Given the description of an element on the screen output the (x, y) to click on. 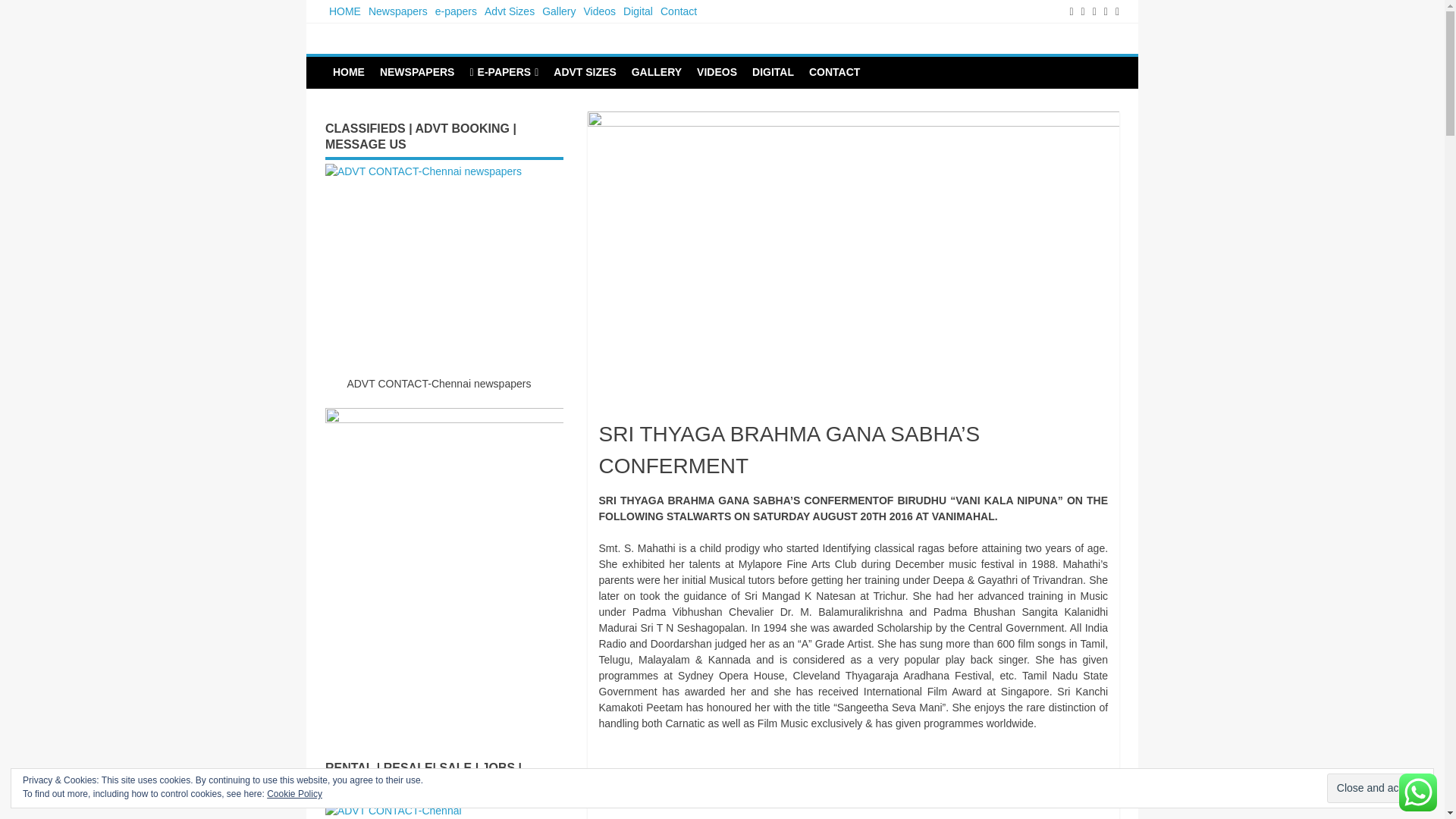
Videos (599, 11)
VIDEOS (716, 71)
Contact (678, 11)
NEWSPAPERS (417, 71)
ADVT SIZES (584, 71)
Newspapers (397, 11)
HOME (344, 11)
GALLERY (656, 71)
Gallery (558, 11)
Newspapers Chennai (440, 50)
